Given the description of an element on the screen output the (x, y) to click on. 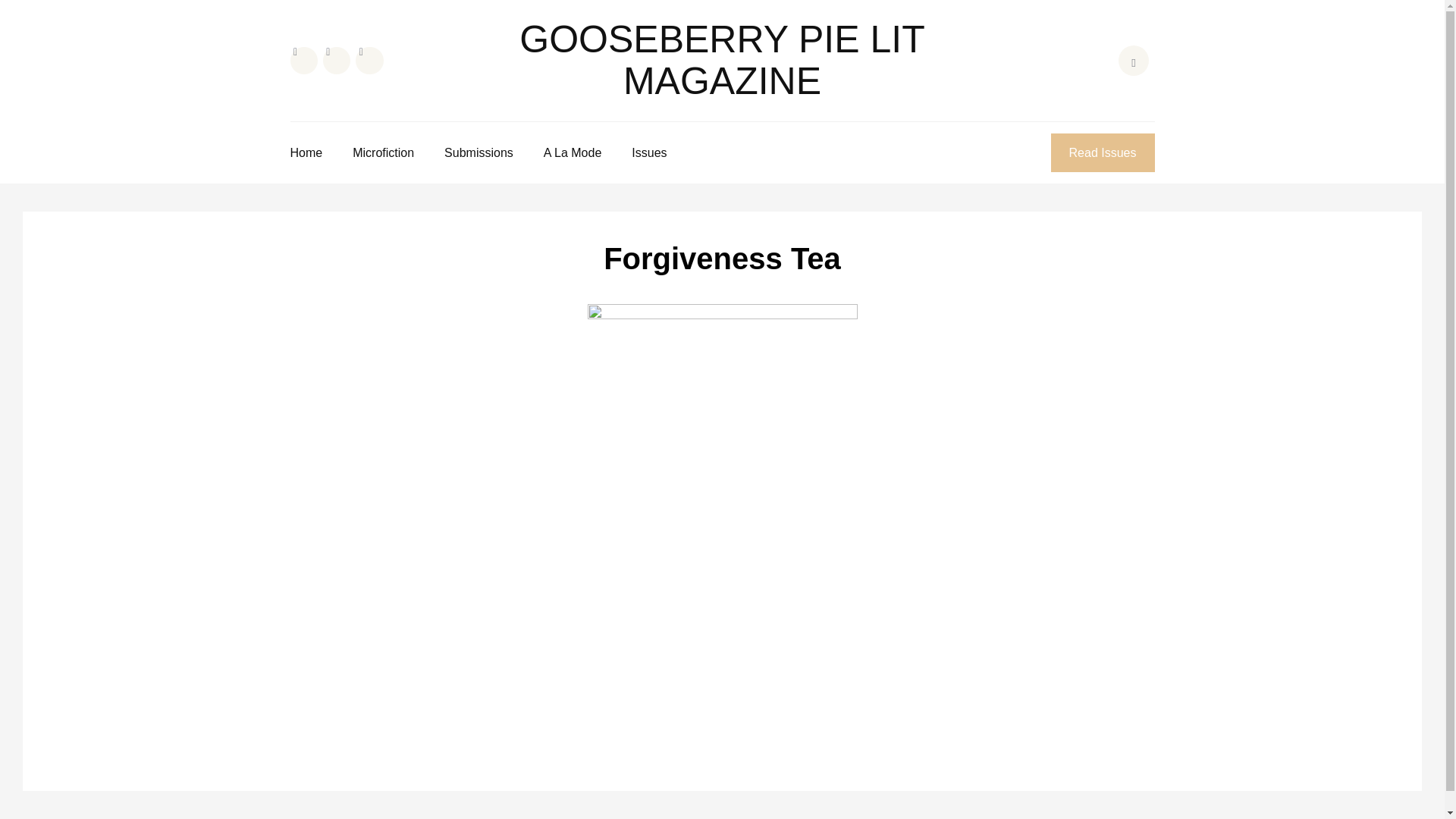
GOOSEBERRY PIE LIT MAGAZINE (721, 60)
Microfiction (382, 152)
Home (305, 152)
Issues (648, 152)
Submissions (478, 152)
A La Mode (572, 152)
Read Issues (1102, 152)
